Given the description of an element on the screen output the (x, y) to click on. 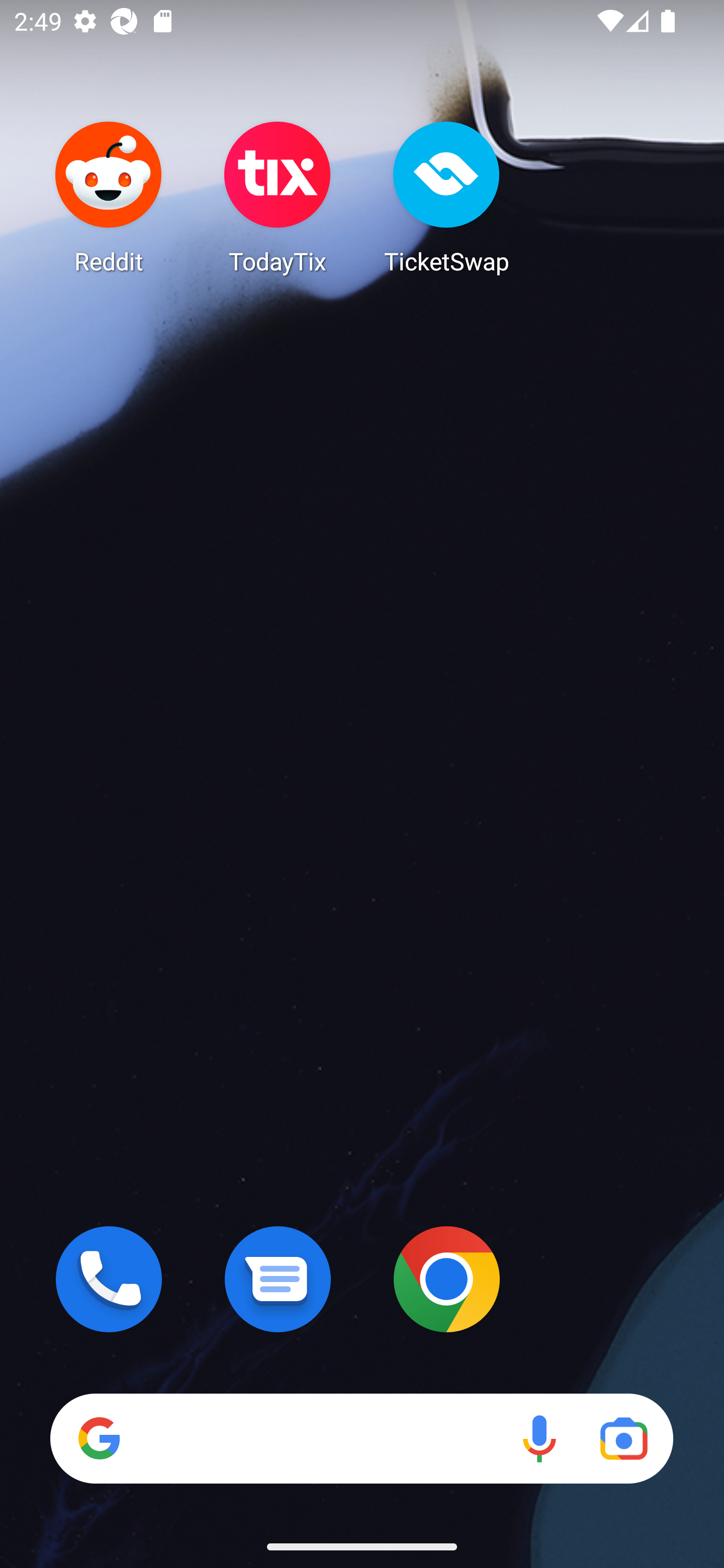
Reddit (108, 196)
TodayTix (277, 196)
TicketSwap (445, 196)
Phone (108, 1279)
Messages (277, 1279)
Chrome (446, 1279)
Voice search (539, 1438)
Google Lens (623, 1438)
